Given the description of an element on the screen output the (x, y) to click on. 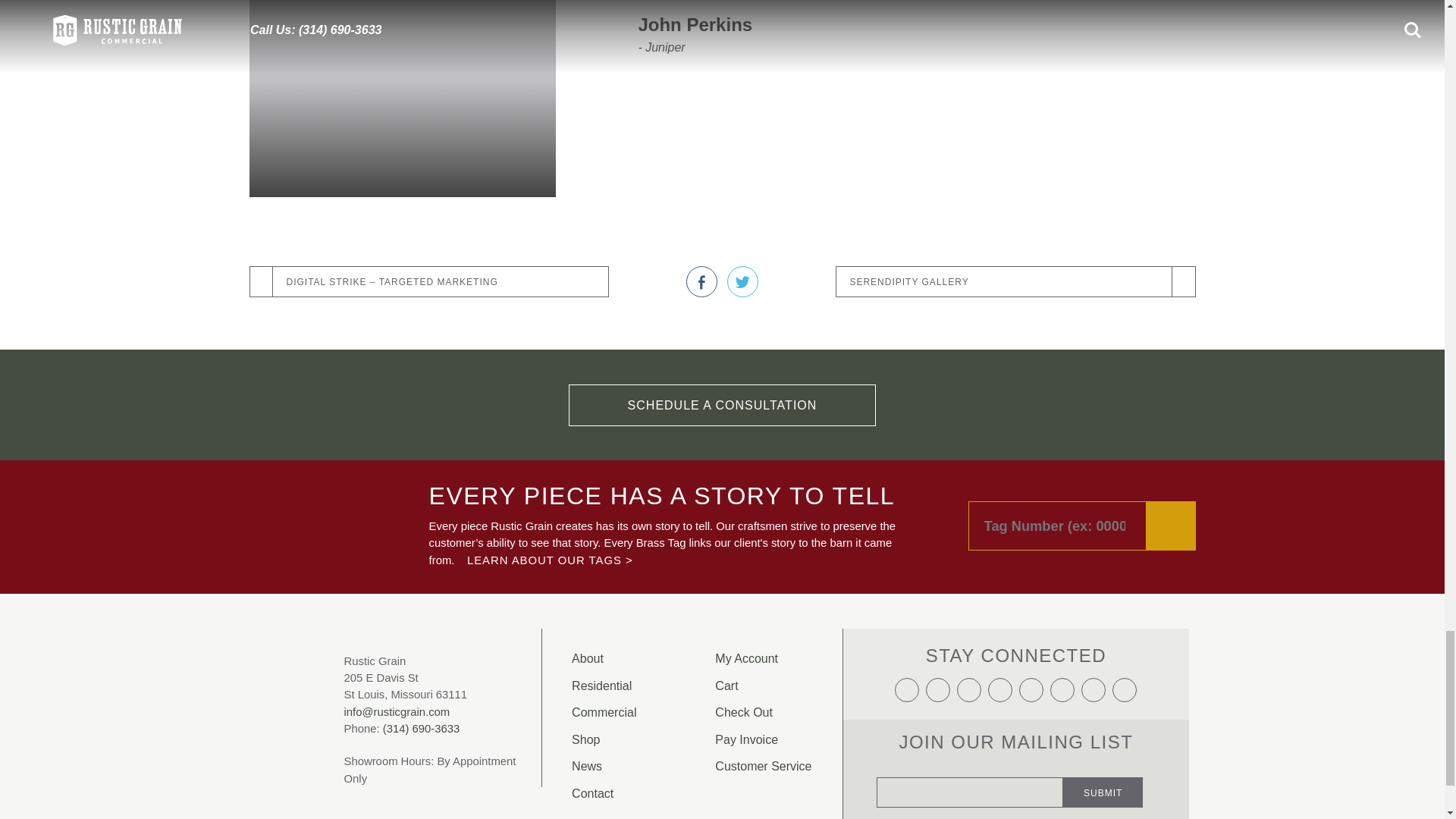
Search (1170, 492)
Search (1170, 492)
SERENDIPITY GALLERY (1014, 249)
Tag Search (1081, 492)
Submit (1102, 758)
